Given the description of an element on the screen output the (x, y) to click on. 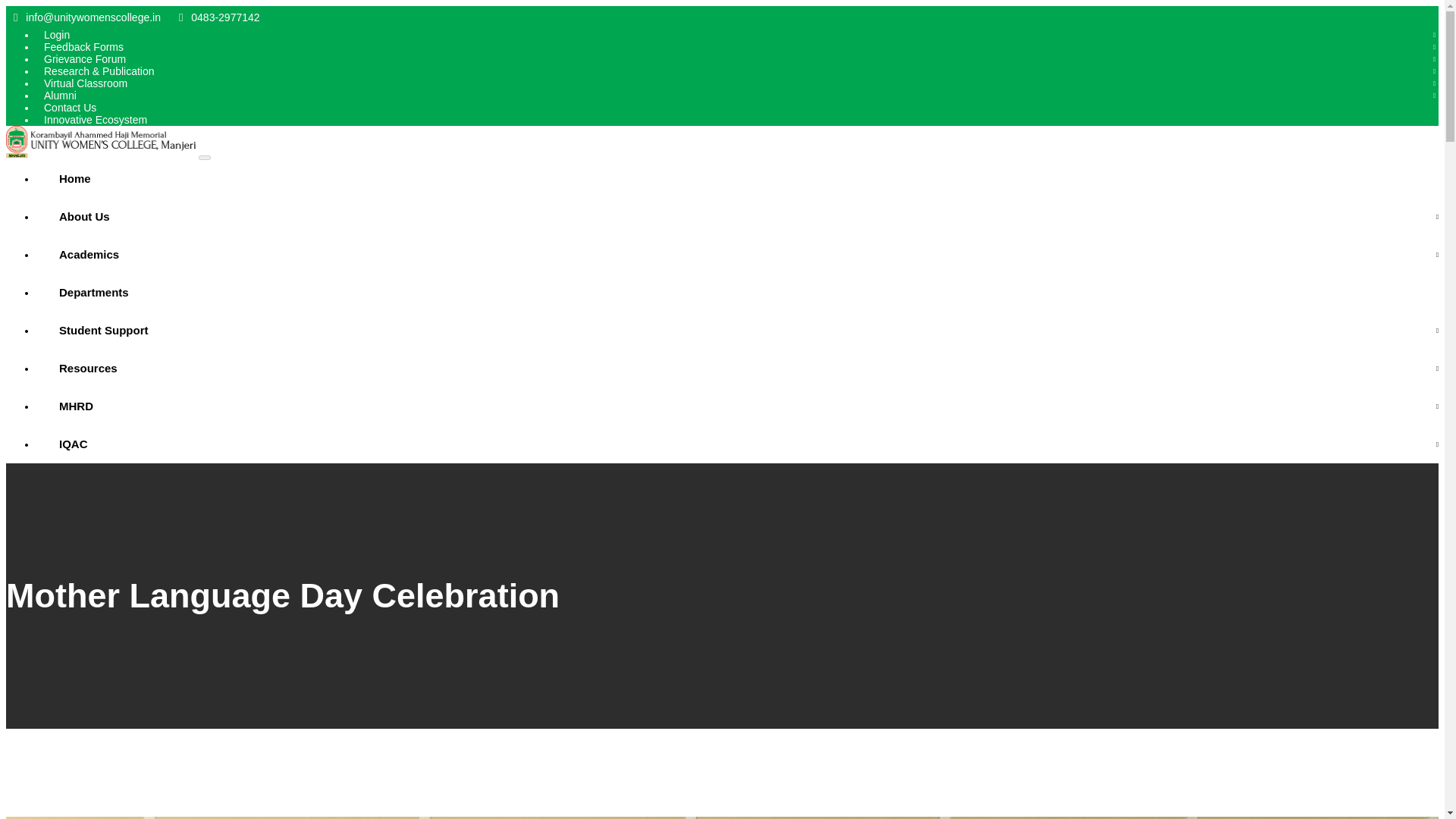
Login (59, 34)
0483-2977142 (219, 16)
Virtual Classroom (88, 83)
Feedback Forms (86, 46)
Alumni (63, 95)
Grievance Forum (87, 58)
